Given the description of an element on the screen output the (x, y) to click on. 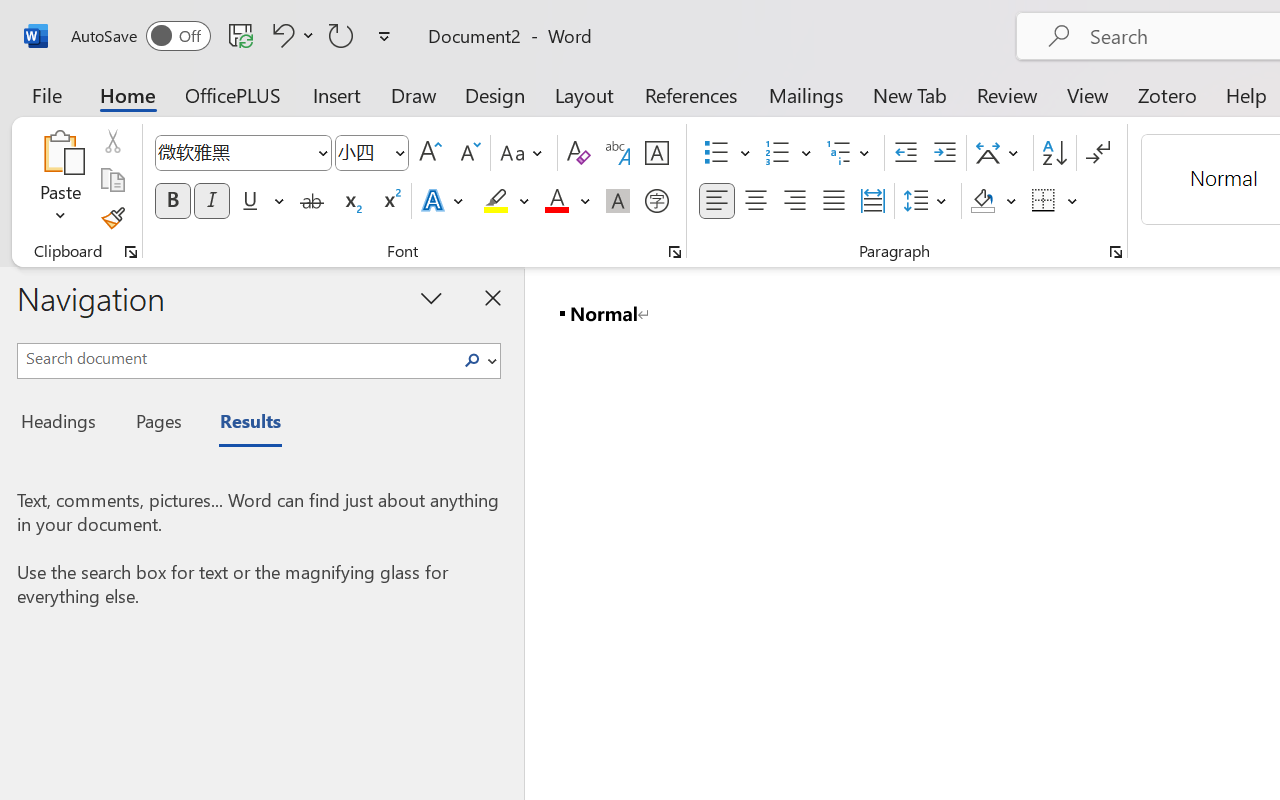
OfficePLUS (233, 94)
Insert (337, 94)
Numbering (788, 153)
Bullets (727, 153)
Change Case (524, 153)
Paste (60, 179)
Mailings (806, 94)
Asian Layout (1000, 153)
Numbering (778, 153)
Justify (834, 201)
Shading (993, 201)
Distributed (872, 201)
Home (127, 94)
Borders (1044, 201)
Shading RGB(0, 0, 0) (982, 201)
